Given the description of an element on the screen output the (x, y) to click on. 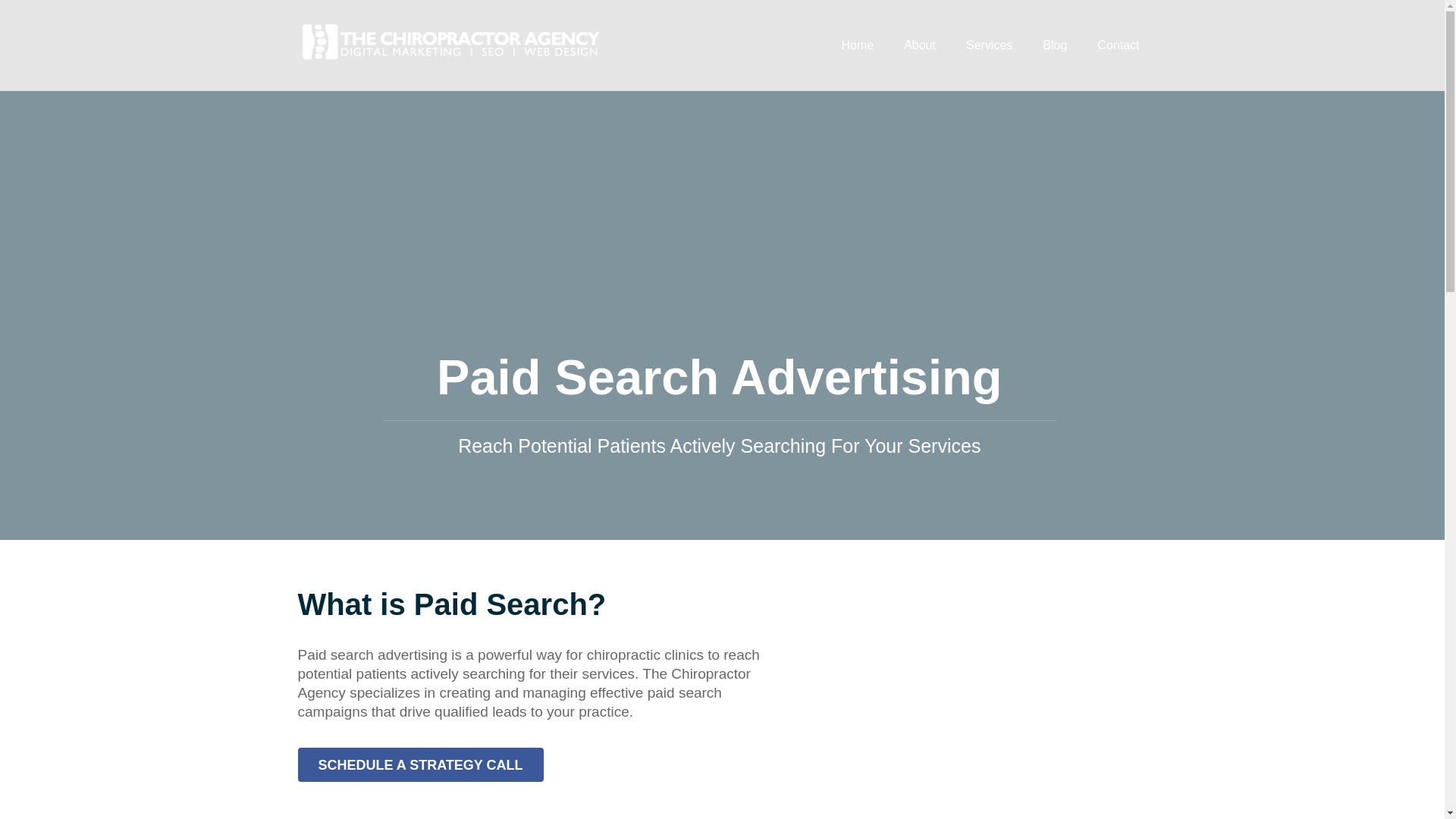
About (919, 45)
Blog (1054, 45)
Services (988, 45)
SCHEDULE A STRATEGY CALL (420, 764)
Home (856, 45)
Contact (1117, 45)
